Given the description of an element on the screen output the (x, y) to click on. 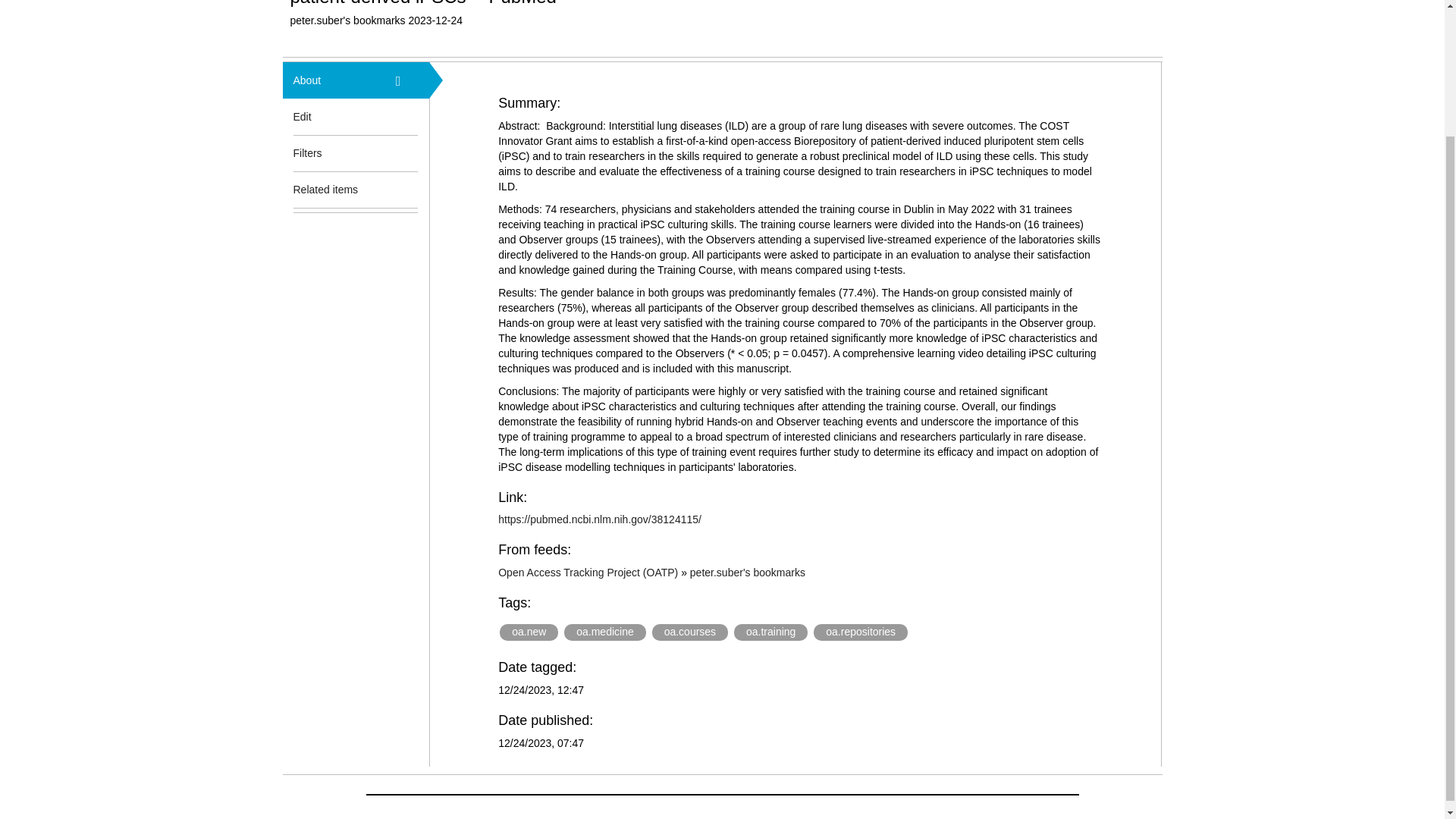
About (333, 80)
oa.courses (690, 632)
Filters (333, 153)
oa.training (770, 632)
About a feed item (407, 80)
Item-level tag filters (407, 153)
oa.medicine (605, 632)
oa.repositories (860, 632)
peter.suber's bookmarks (747, 572)
oa.new (528, 632)
